Given the description of an element on the screen output the (x, y) to click on. 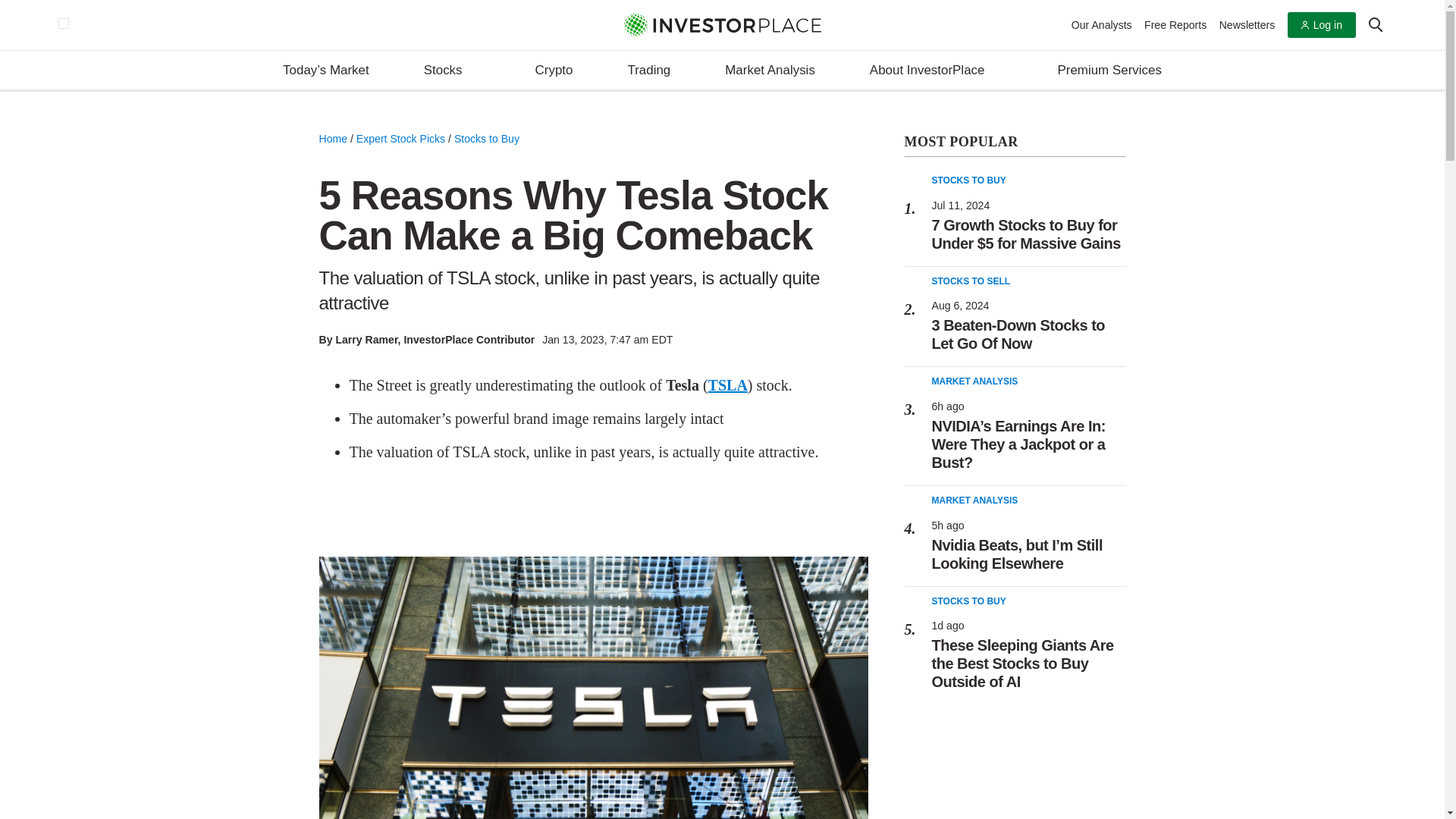
Our Analysts (1101, 24)
Log in (1321, 25)
Free Reports (1175, 24)
Newsletters (1247, 24)
Stocks (452, 70)
View profile of Larry Ramer (365, 339)
View Most Read Content (1014, 142)
